Given the description of an element on the screen output the (x, y) to click on. 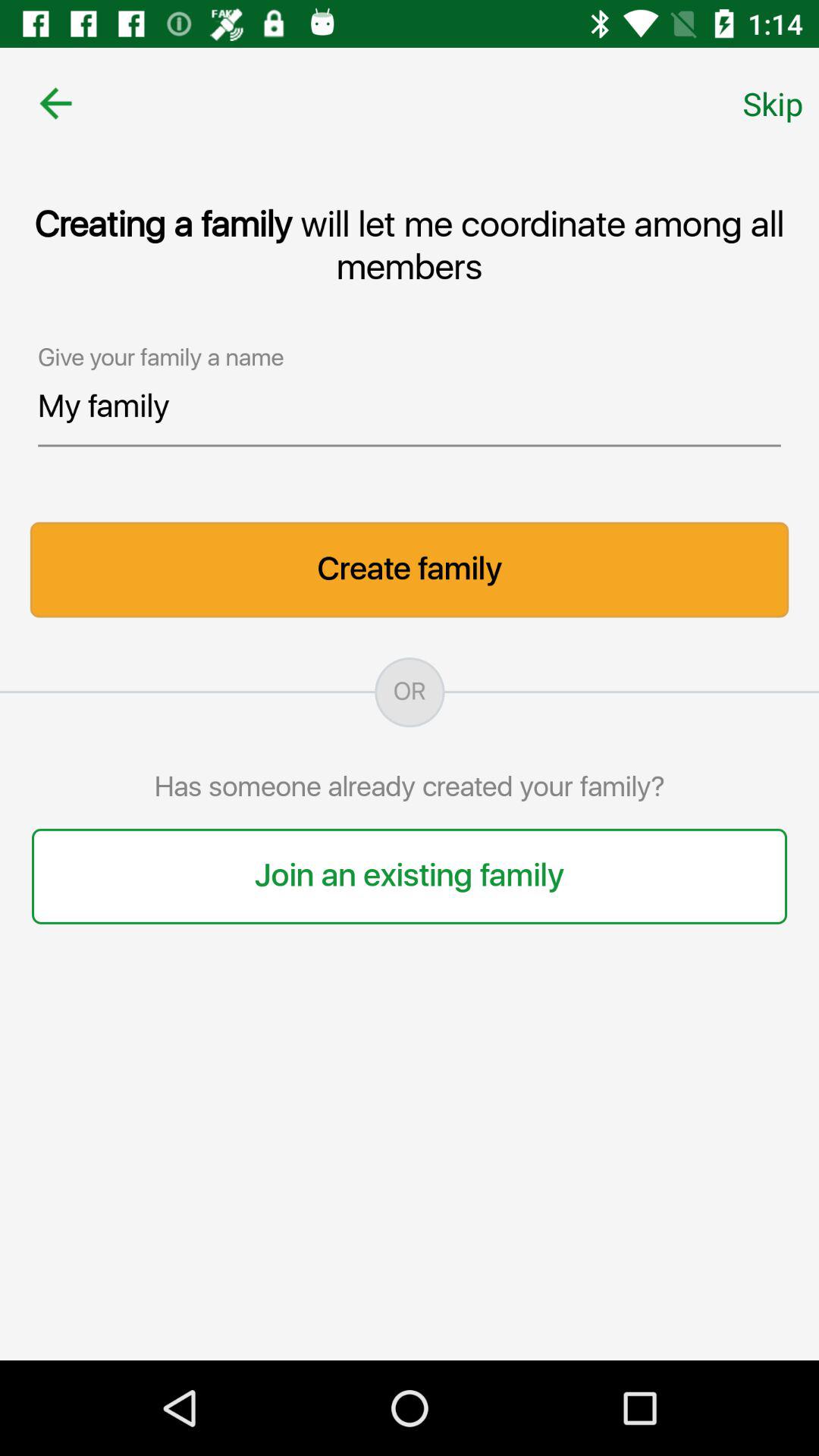
flip until my family item (409, 413)
